Given the description of an element on the screen output the (x, y) to click on. 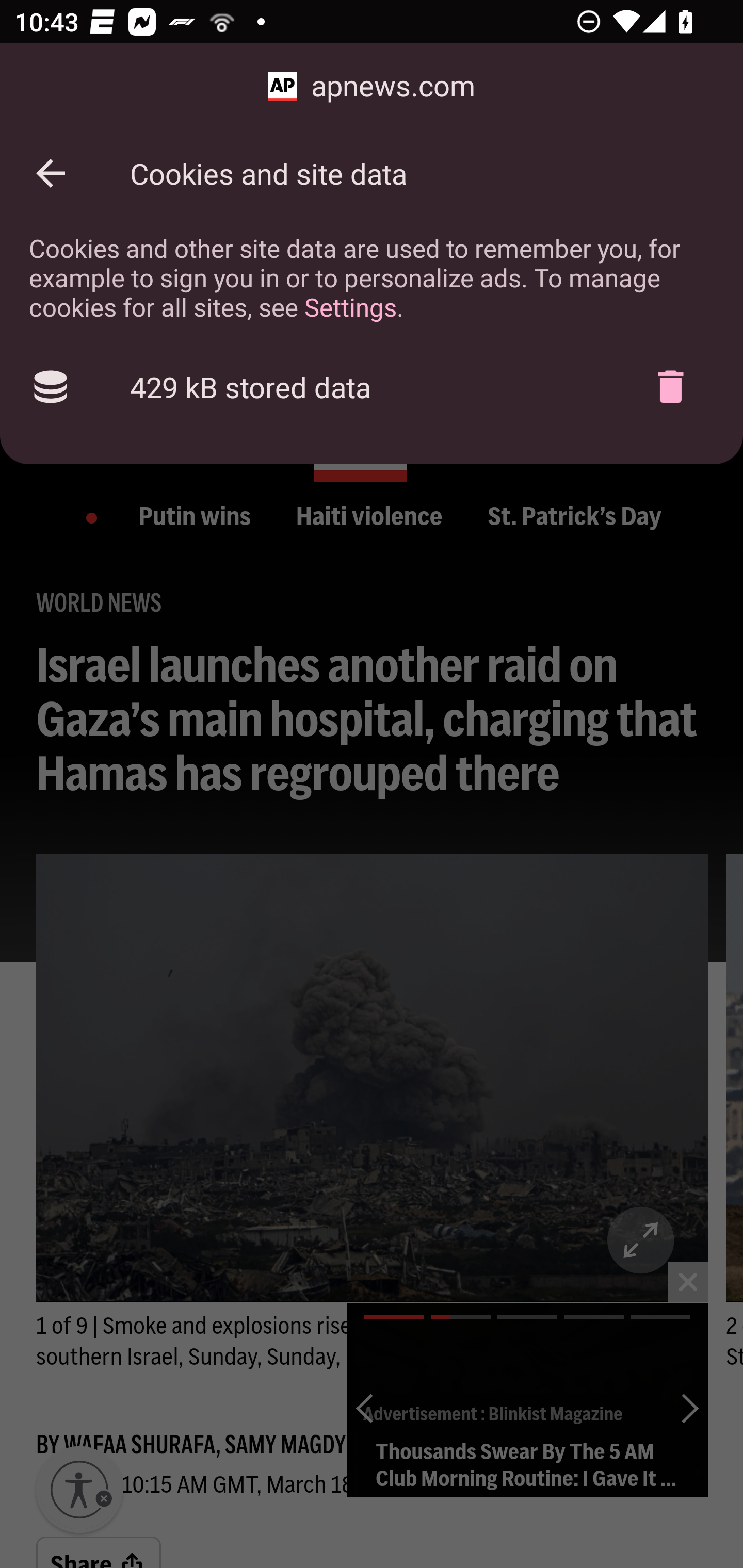
apnews.com (371, 86)
Back (50, 173)
429 kB stored data Delete cookies? (371, 386)
